Given the description of an element on the screen output the (x, y) to click on. 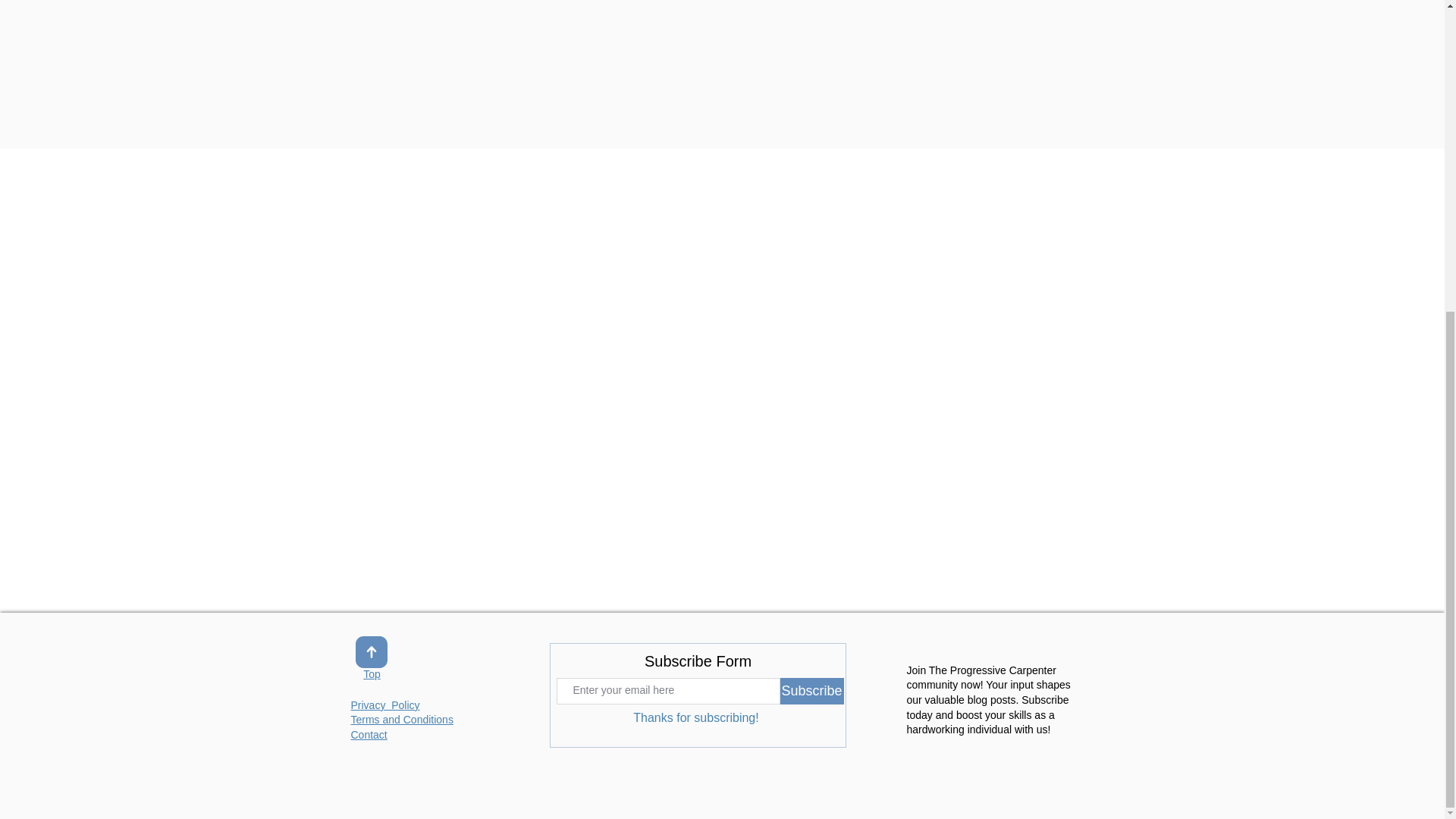
Top (371, 674)
Contact (368, 734)
Terms and Conditions (401, 719)
Subscribe (810, 691)
Privacy  Policy (384, 705)
